Given the description of an element on the screen output the (x, y) to click on. 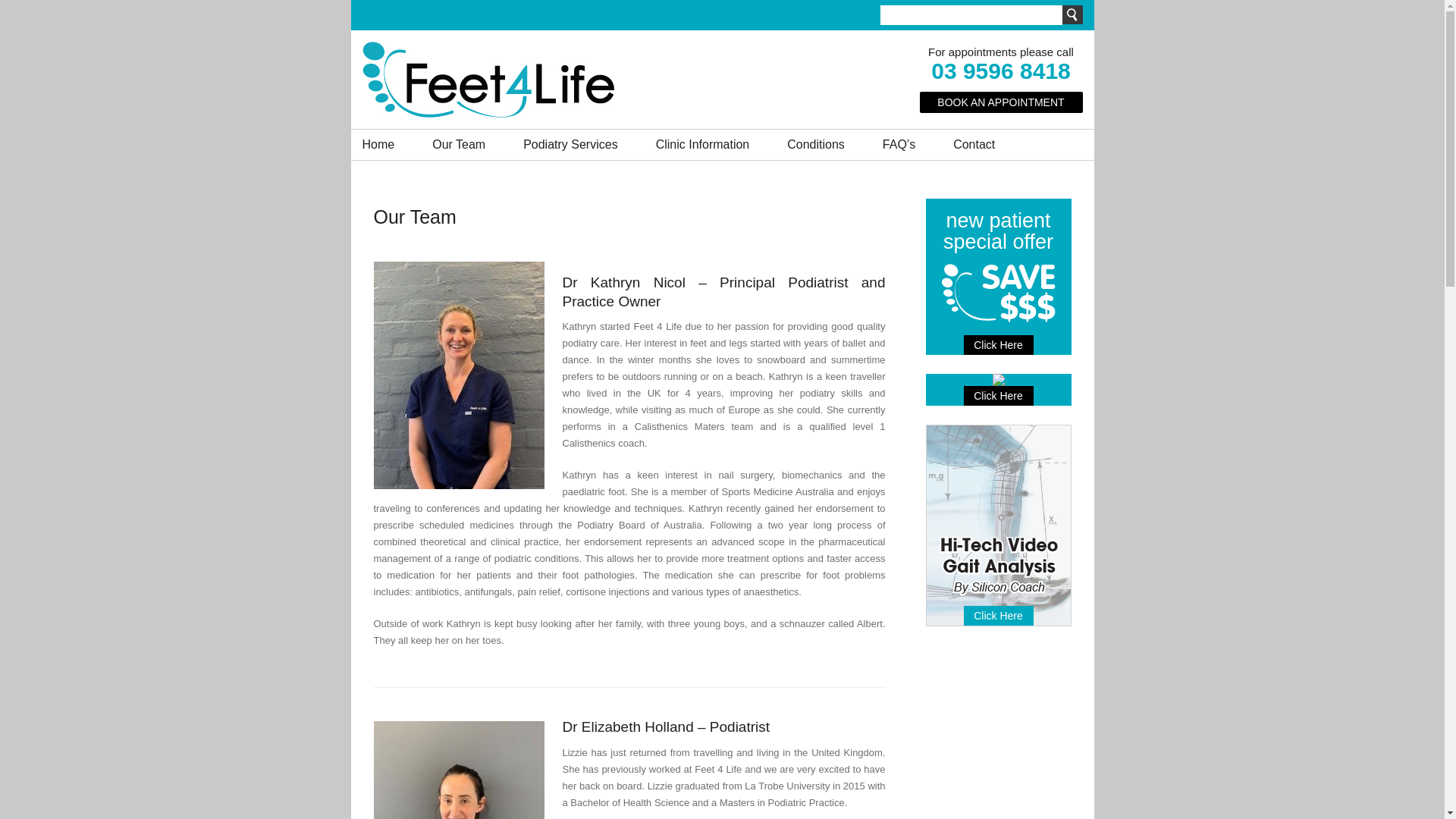
Search Element type: text (1071, 14)
Conditions Element type: text (815, 144)
BOOK AN APPOINTMENT Element type: text (1000, 101)
Clinic Information Element type: text (702, 144)
Click Here Element type: text (997, 344)
Podiatry Services Element type: text (570, 144)
Contact Element type: text (973, 144)
Home Element type: text (378, 144)
Click Here Element type: text (997, 395)
Click Here Element type: text (997, 615)
Our Team Element type: text (458, 144)
